Given the description of an element on the screen output the (x, y) to click on. 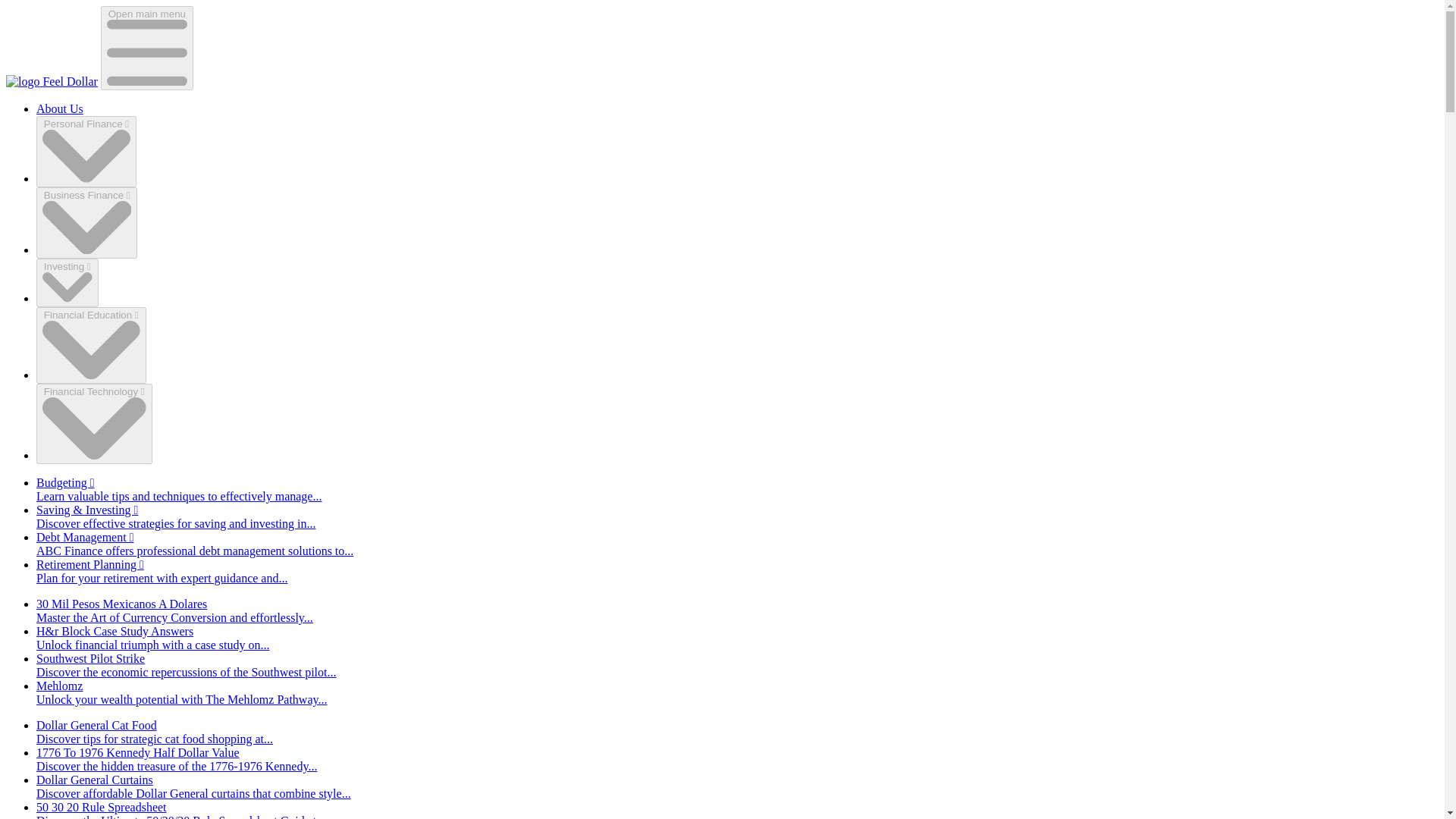
About Us (59, 108)
Open main menu (146, 47)
Feel Dollar (51, 81)
